Given the description of an element on the screen output the (x, y) to click on. 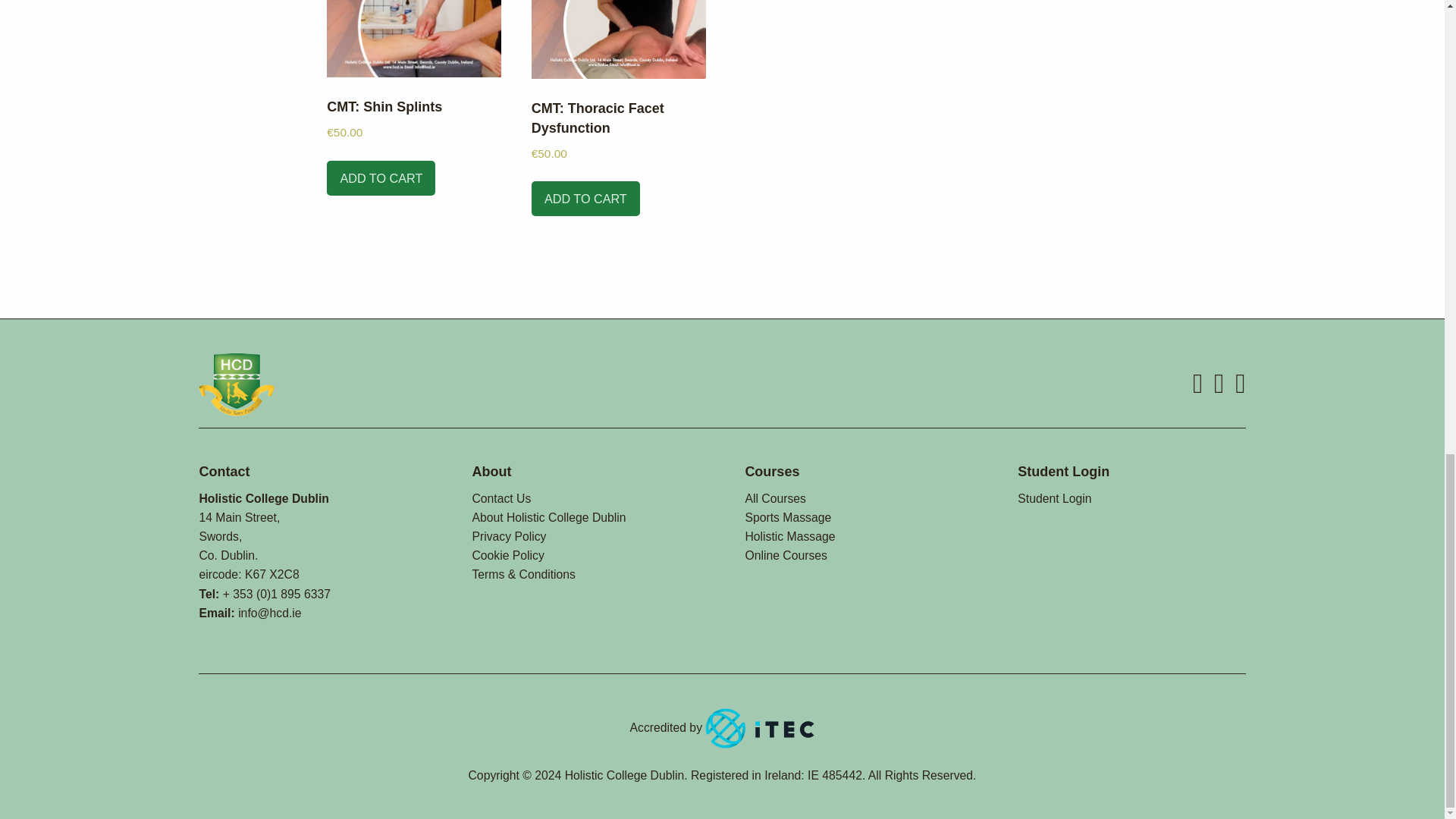
About Holistic College Dublin (548, 517)
Contact Us (501, 498)
Privacy Policy (508, 535)
ADD TO CART (380, 177)
Cookie Policy (507, 554)
ADD TO CART (585, 198)
